Given the description of an element on the screen output the (x, y) to click on. 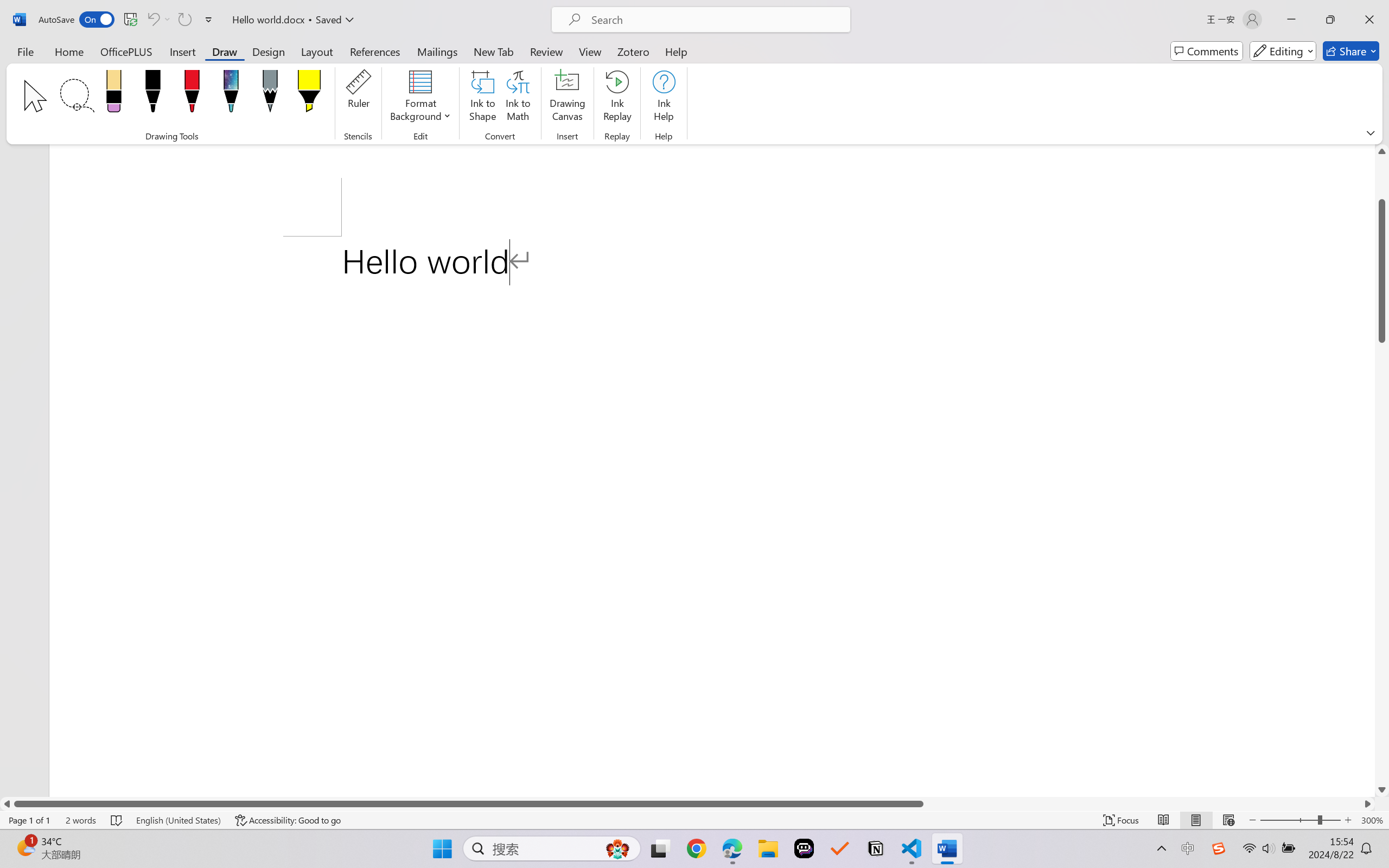
AutomationID: DynamicSearchBoxGleamImage (617, 848)
New Tab (493, 51)
Read Mode (1163, 819)
Focus  (1121, 819)
AutomationID: BadgeAnchorLargeTicker (24, 847)
Can't Undo (158, 19)
Ink to Math (517, 97)
Help (675, 51)
Ink to Shape (483, 97)
Language English (United States) (178, 819)
Ink Help (663, 97)
AutoSave (76, 19)
Class: Image (1218, 847)
Accessibility Checker Accessibility: Good to go (288, 819)
